Given the description of an element on the screen output the (x, y) to click on. 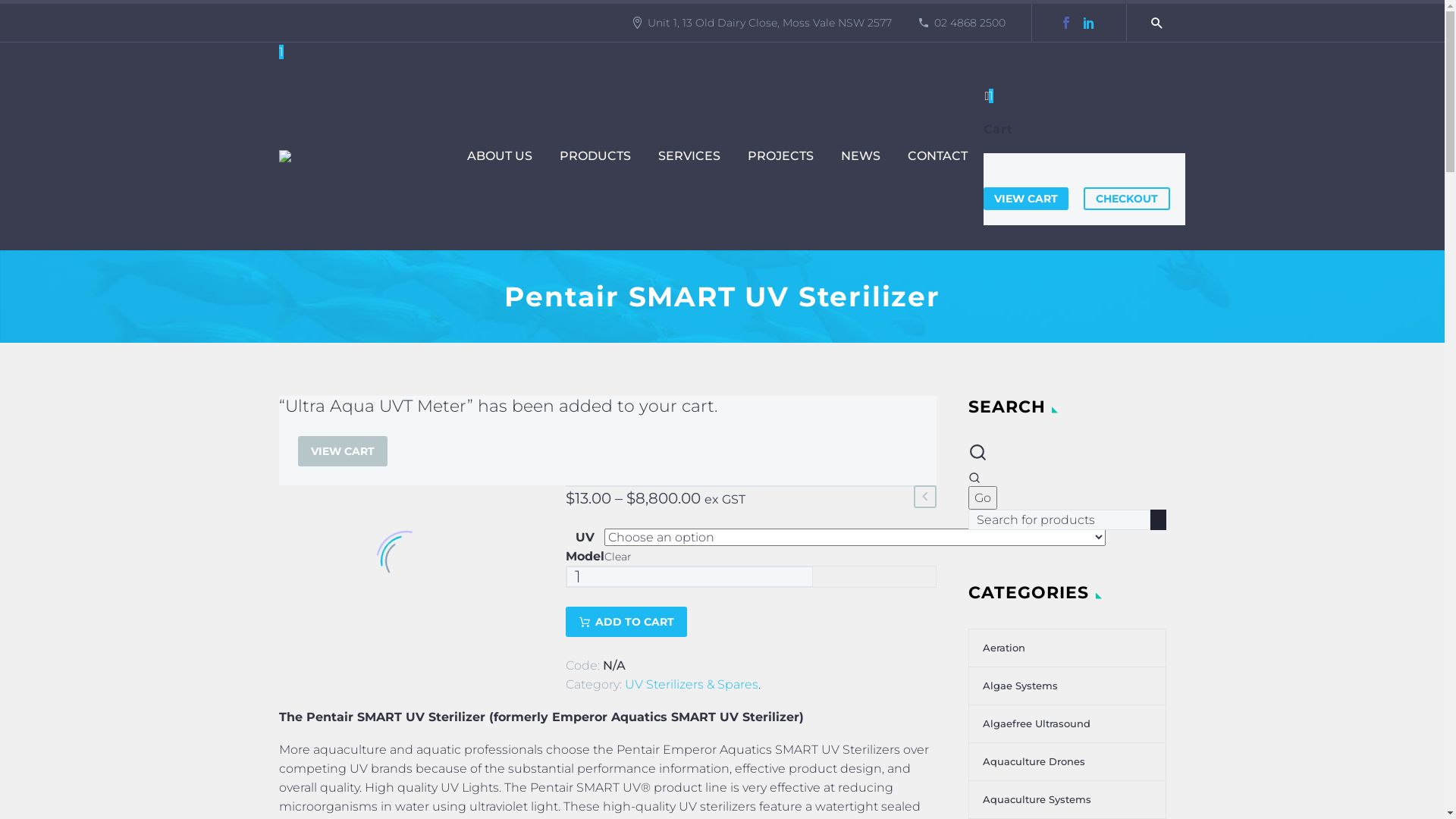
Facebook Element type: hover (1065, 22)
PRODUCTS Element type: text (594, 155)
Clear Element type: text (617, 556)
Aquaculture Drones Element type: text (1027, 761)
UV Sterilizers & Spares Element type: text (691, 684)
02 4868 2500 Element type: text (969, 22)
VIEW CART Element type: text (341, 451)
LinkedIn Element type: hover (1087, 22)
Algae Systems Element type: text (1013, 685)
SERVICES Element type: text (688, 155)
Algaefree Ultrasound Element type: text (1029, 723)
Aquaculture Systems Element type: text (1030, 799)
ADD TO CART Element type: text (626, 621)
NEWS Element type: text (860, 155)
PROJECTS Element type: text (779, 155)
1 Element type: text (1083, 95)
VIEW CART Element type: text (1024, 198)
CHECKOUT Element type: text (1125, 198)
ABOUT US Element type: text (498, 155)
CONTACT Element type: text (937, 155)
1 Element type: text (281, 51)
Aeration Element type: text (997, 647)
